Given the description of an element on the screen output the (x, y) to click on. 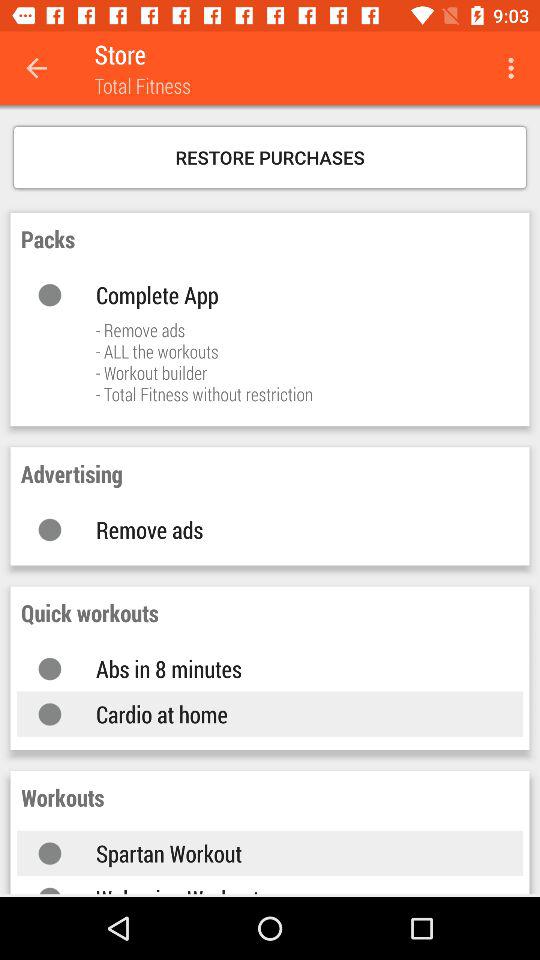
select item above remove ads all (289, 294)
